Given the description of an element on the screen output the (x, y) to click on. 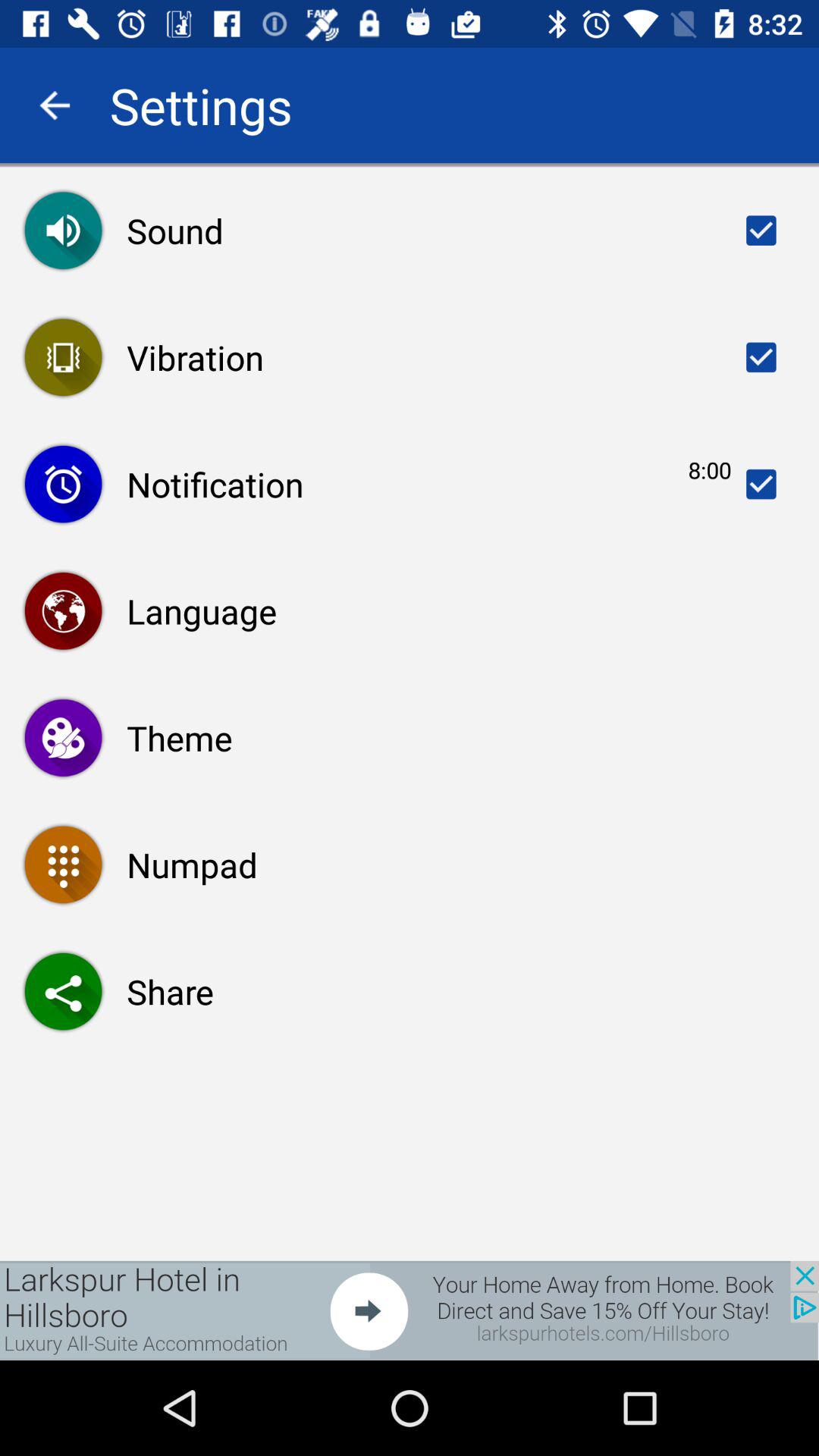
opens a advertisement (409, 1310)
